Given the description of an element on the screen output the (x, y) to click on. 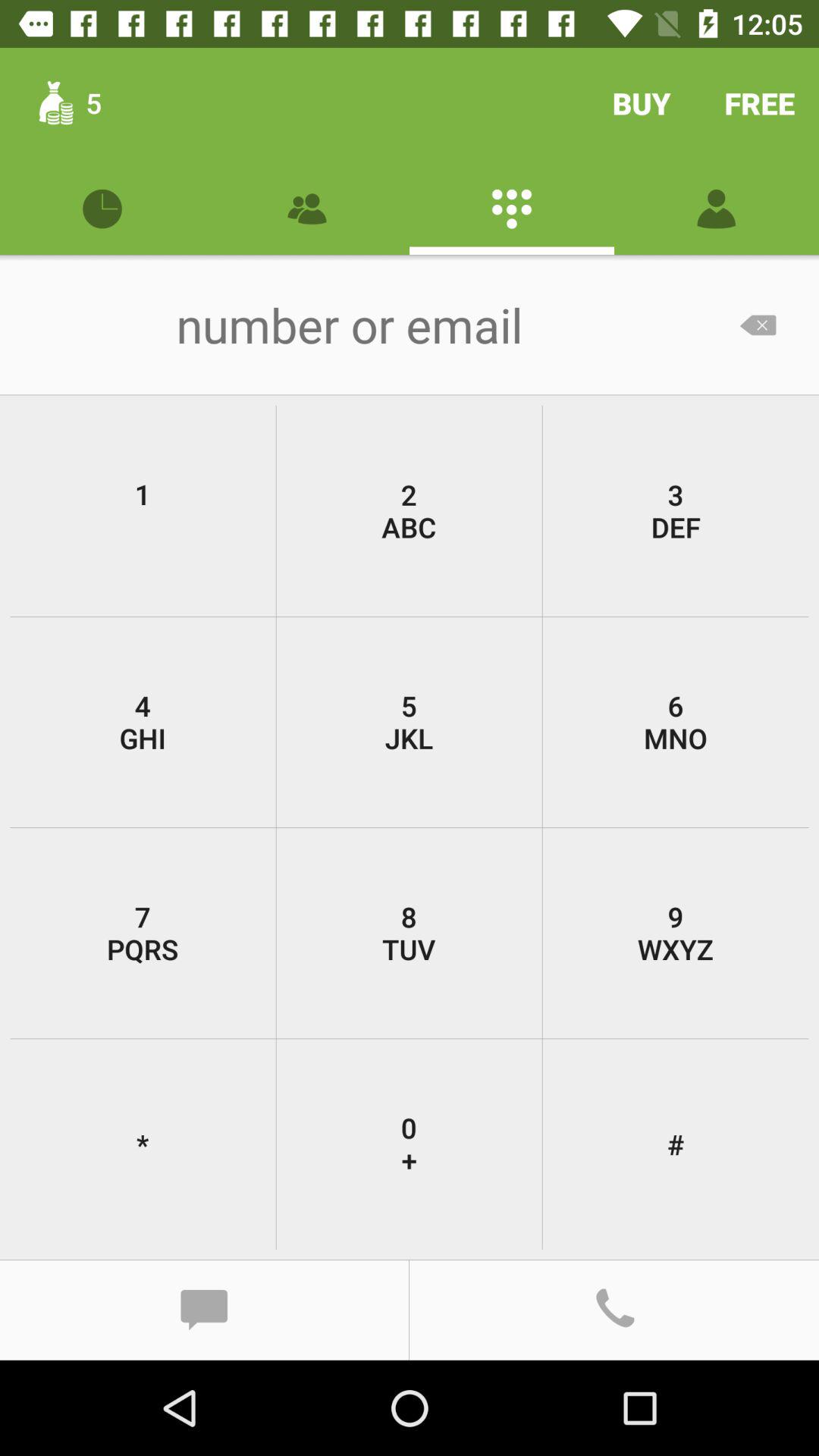
scroll to the 4
ghi (142, 722)
